Given the description of an element on the screen output the (x, y) to click on. 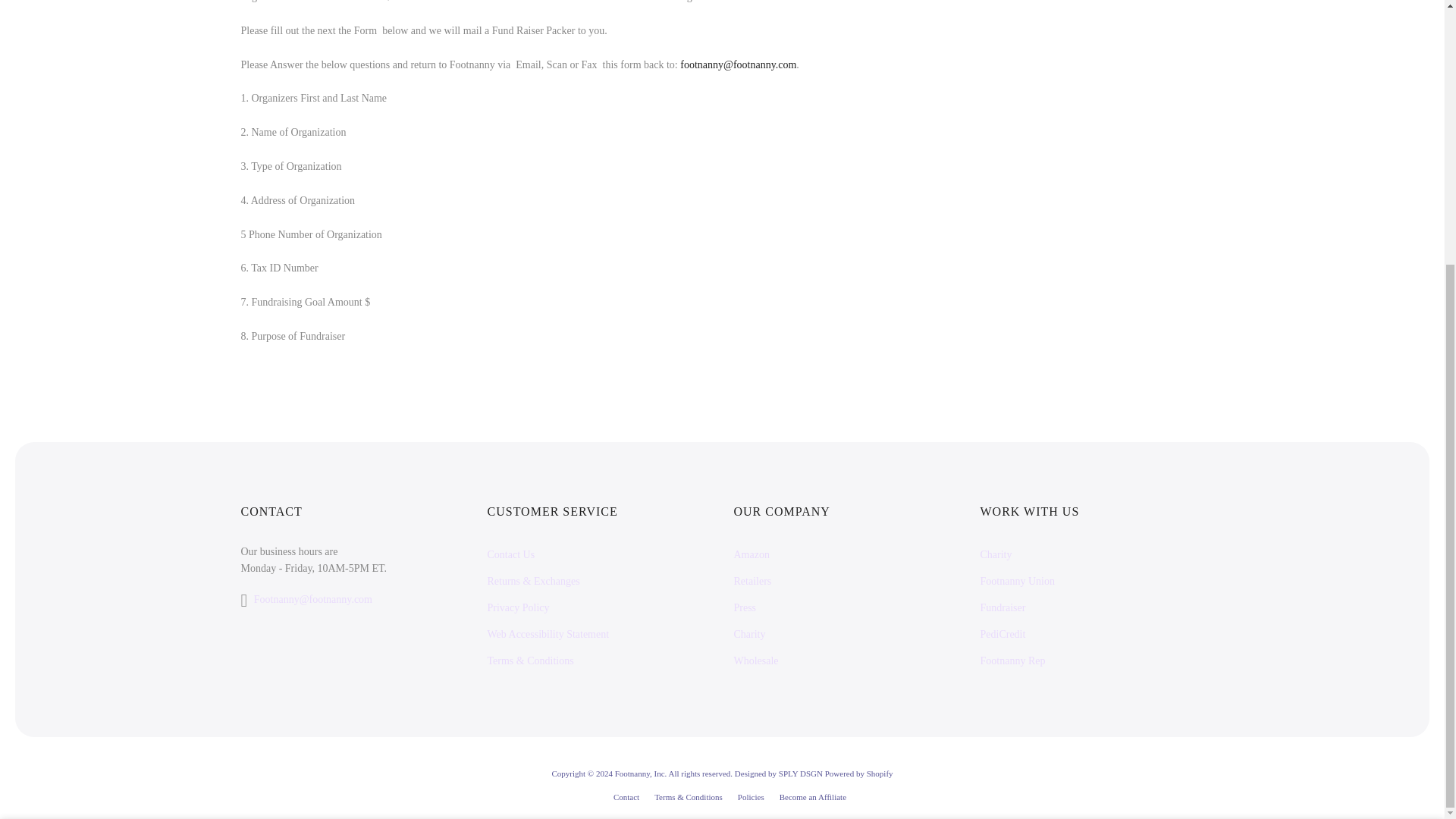
Web Accessibility Statement (547, 633)
Amazon (751, 553)
Contact Us (510, 553)
Privacy Policy (517, 606)
